Given the description of an element on the screen output the (x, y) to click on. 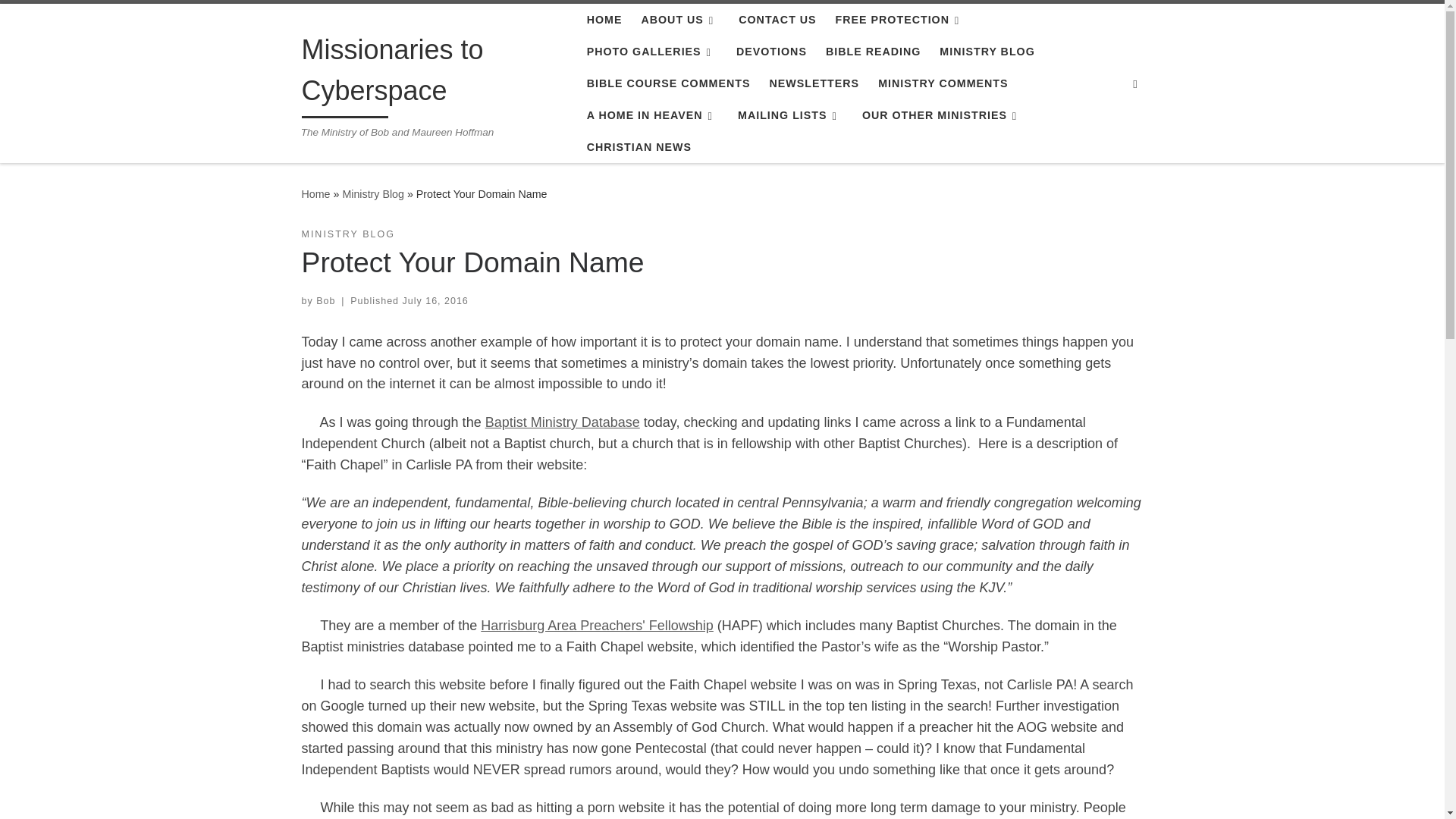
FREE PROTECTION (899, 20)
6:40 pm (435, 300)
Missionaries to Cyberspace (315, 193)
NEWSLETTERS (813, 83)
OUR OTHER MINISTRIES (942, 115)
ABOUT US (679, 20)
HOME (603, 20)
BIBLE READING (873, 51)
BIBLE COURSE COMMENTS (667, 83)
View all posts by Bob (324, 300)
PHOTO GALLERIES (651, 51)
MINISTRY COMMENTS (943, 83)
MINISTRY BLOG (986, 51)
Missionaries to Cyberspace (432, 73)
CONTACT US (777, 20)
